Given the description of an element on the screen output the (x, y) to click on. 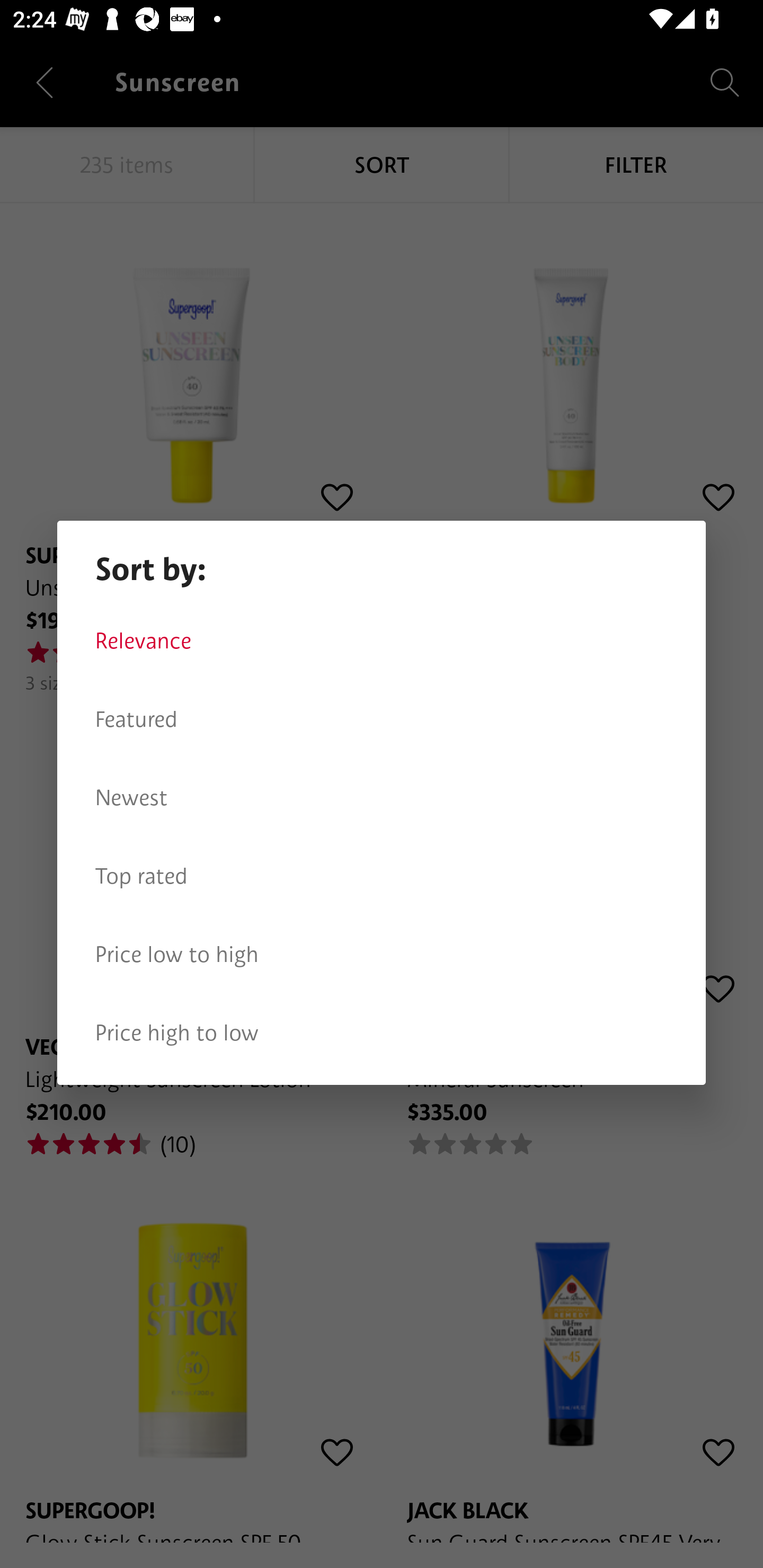
Relevance (381, 641)
Featured (381, 719)
Newest (381, 797)
Top rated (381, 876)
Price low to high (381, 954)
Price high to low (381, 1033)
